Given the description of an element on the screen output the (x, y) to click on. 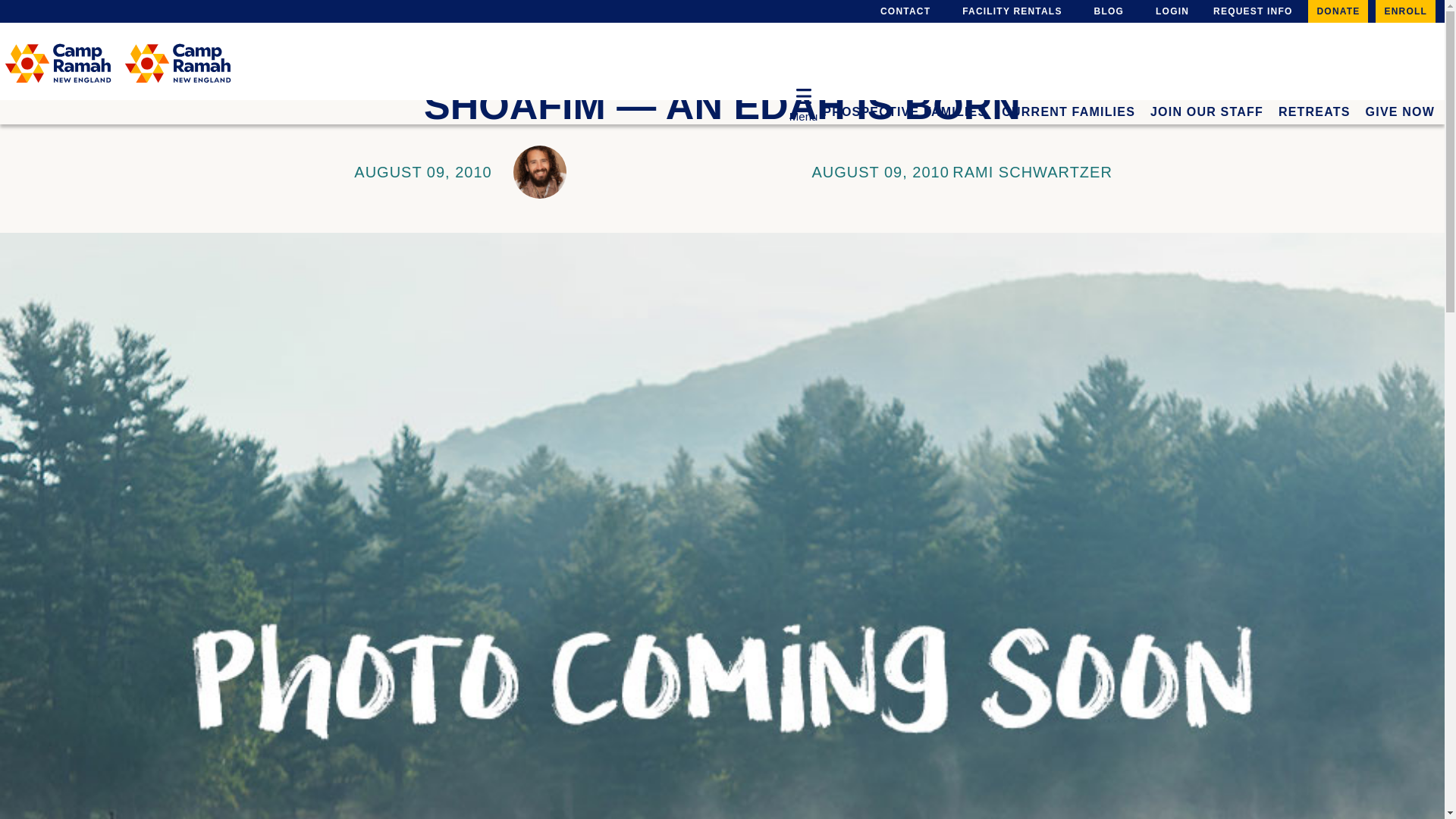
RETREATS (1314, 106)
PROSPECTIVE FAMILIES (904, 106)
JOIN OUR STAFF (1206, 106)
CURRENT FAMILIES (1068, 106)
REQUEST INFO (1252, 11)
Posts by Rami Schwartzer (1032, 171)
GIVE NOW (1399, 106)
MobileMenu Created with Sketch. (803, 96)
LOGIN (1168, 11)
ENROLL (1405, 11)
CONTACT (901, 11)
BLOG (1105, 11)
DONATE (1337, 11)
FACILITY RENTALS (1008, 11)
